Given the description of an element on the screen output the (x, y) to click on. 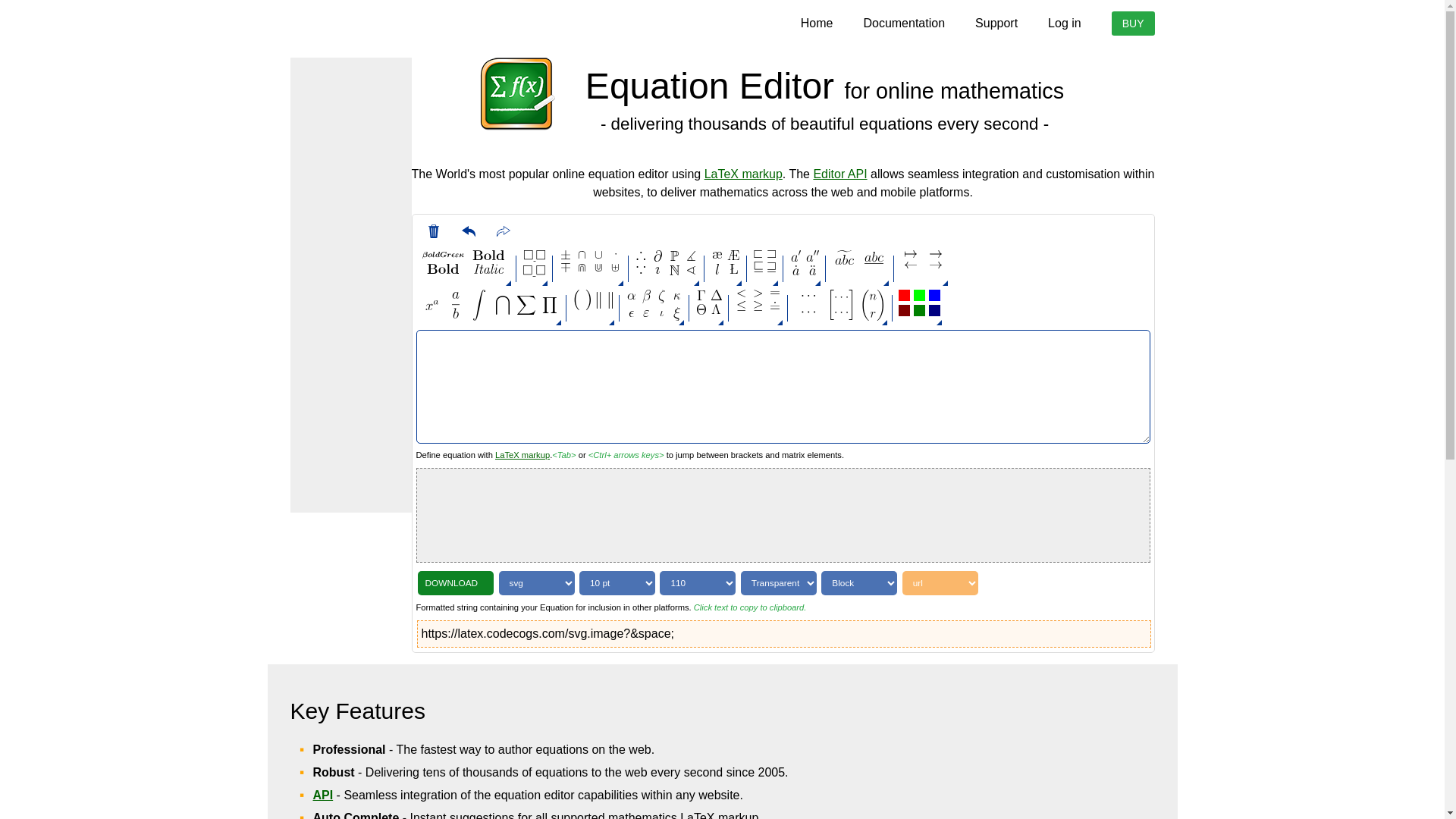
DOWNLOAD (454, 582)
Undo (467, 231)
Licence Page (1133, 23)
Support Page (996, 22)
Documentation (903, 22)
Redo (502, 231)
Home (816, 22)
Trash (432, 231)
LaTeX markup (743, 173)
Log in (1064, 22)
BUY (1133, 23)
Log in (1064, 22)
API (323, 794)
LaTeX markup (522, 454)
Support (996, 22)
